Given the description of an element on the screen output the (x, y) to click on. 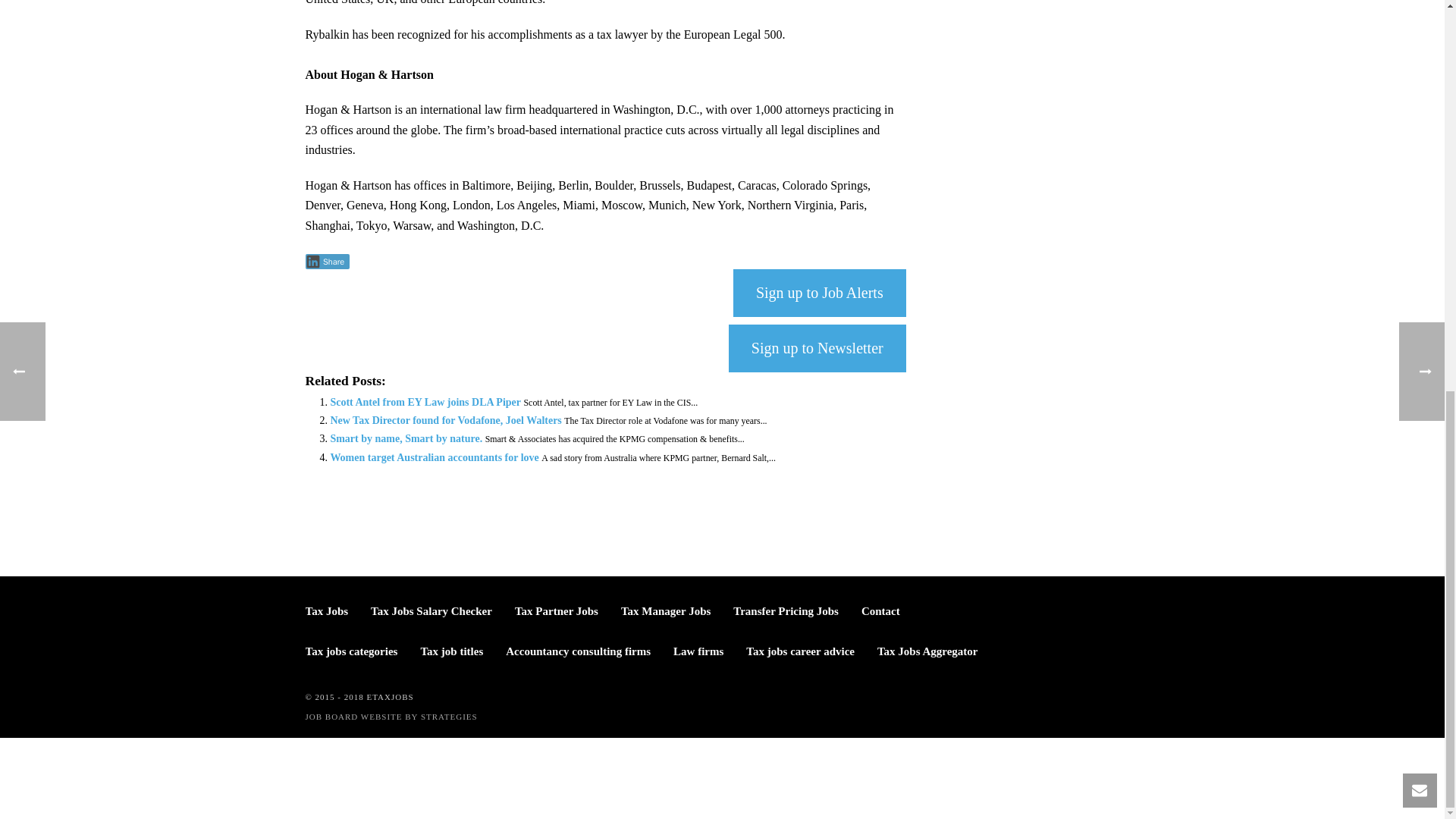
Women target Australian accountants for love (434, 457)
Smart by name, Smart by nature. (405, 438)
Sign up to Newsletter (817, 348)
New Tax Director found for Vodafone, Joel Walters (445, 419)
Tax Jobs (325, 611)
Sign up to Job Alerts (819, 292)
Scott Antel from EY Law joins DLA Piper (425, 401)
New Tax Director found for Vodafone, Joel Walters (445, 419)
Women target Australian accountants for love (434, 457)
Smart by name, Smart by nature. (405, 438)
Tax Jobs Salary Checker (431, 611)
Scott Antel from EY Law joins DLA Piper (425, 401)
Share (326, 261)
